Given the description of an element on the screen output the (x, y) to click on. 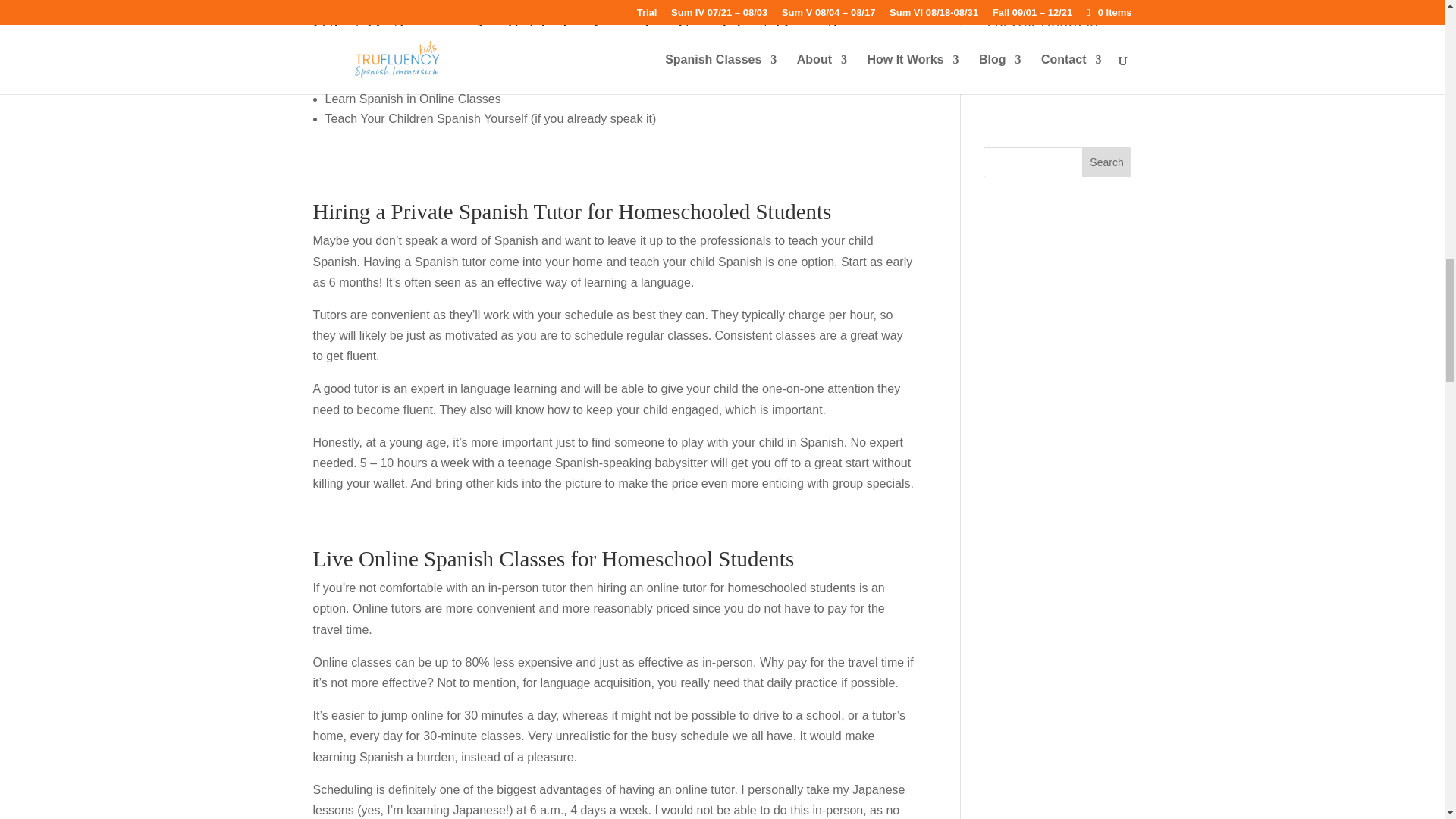
Search (1106, 162)
